Given the description of an element on the screen output the (x, y) to click on. 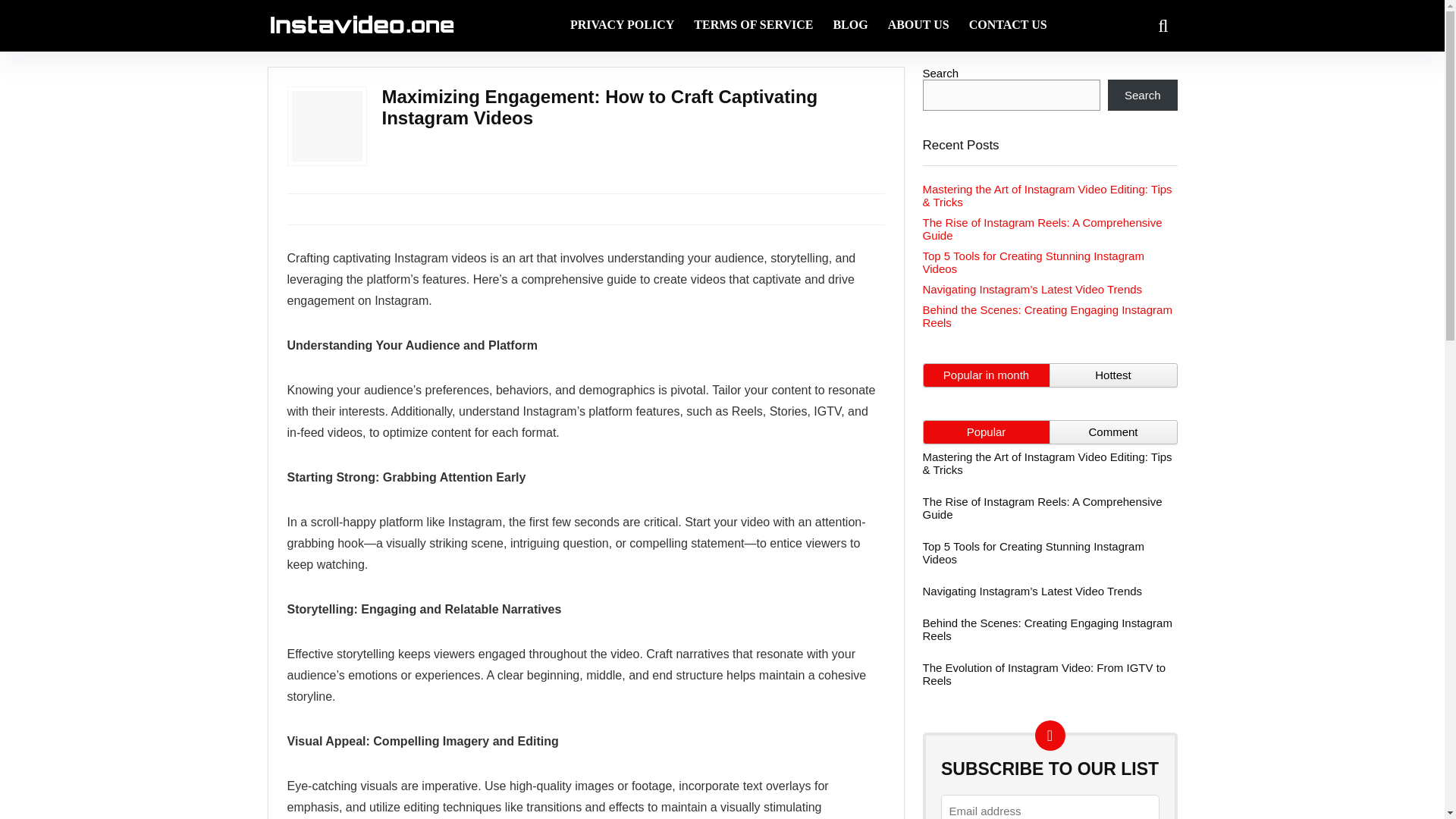
Search (1142, 94)
Top 5 Tools for Creating Stunning Instagram Videos (1031, 552)
Top 5 Tools for Creating Stunning Instagram Videos (1031, 262)
PRIVACY POLICY (622, 25)
ABOUT US (918, 25)
The Rise of Instagram Reels: A Comprehensive Guide (1041, 228)
BLOG (849, 25)
Behind the Scenes: Creating Engaging Instagram Reels (1046, 316)
CONTACT US (1008, 25)
Behind the Scenes: Creating Engaging Instagram Reels (1046, 629)
The Rise of Instagram Reels: A Comprehensive Guide (1041, 507)
TERMS OF SERVICE (753, 25)
The Evolution of Instagram Video: From IGTV to Reels (1043, 673)
